Given the description of an element on the screen output the (x, y) to click on. 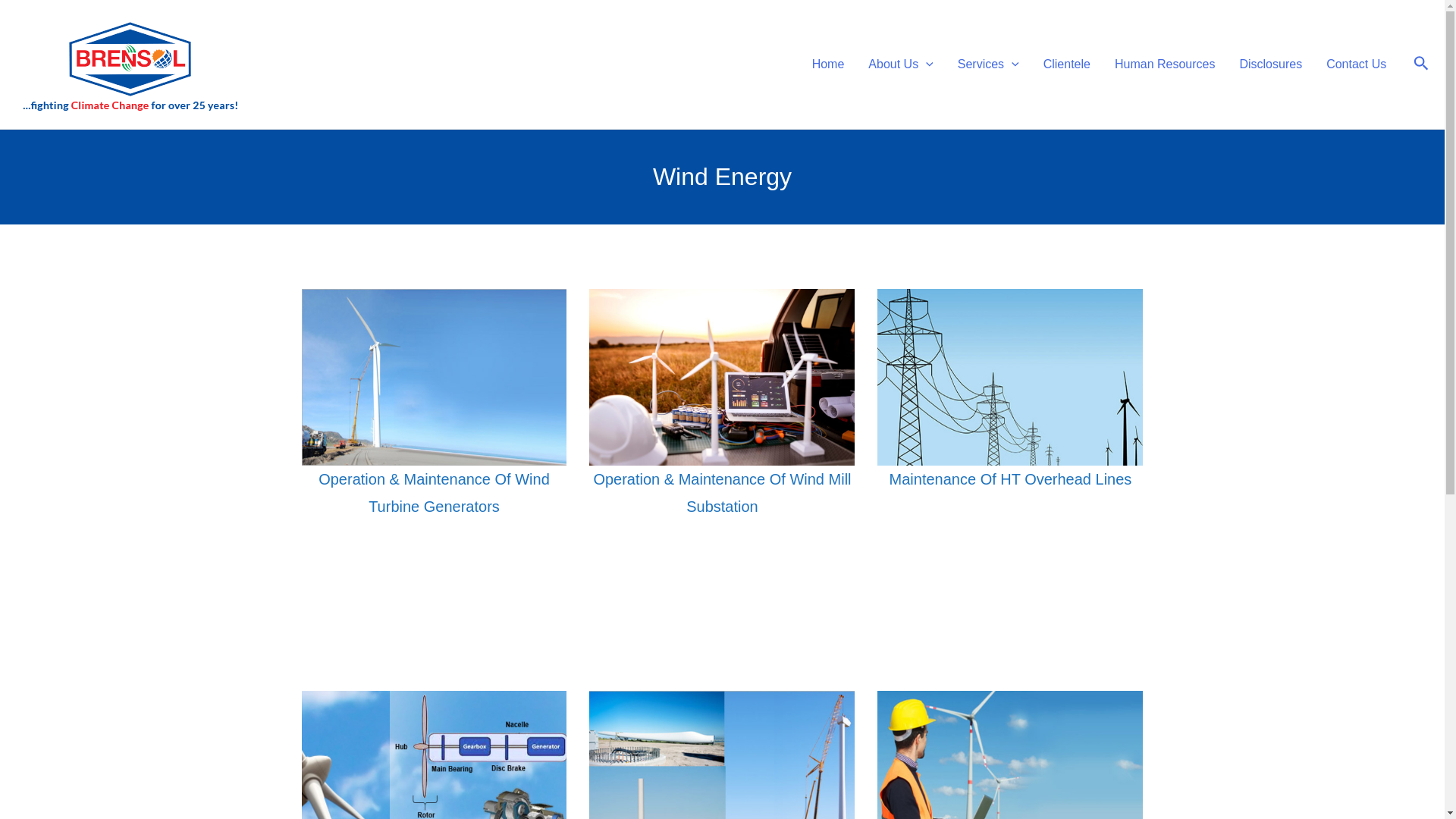
About Us (900, 64)
Clientele (1066, 64)
Home (828, 64)
Contact Us (1355, 64)
Disclosures (1270, 64)
Services (987, 64)
Human Resources (1164, 64)
